Given the description of an element on the screen output the (x, y) to click on. 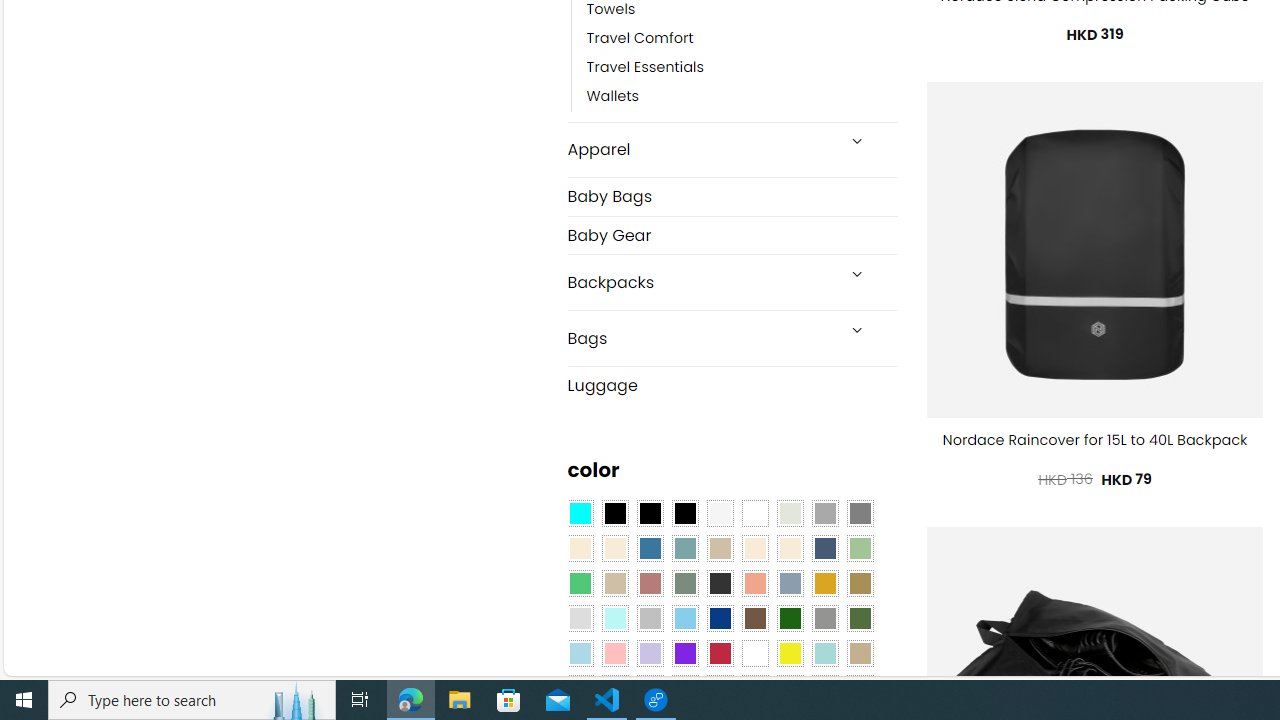
Light Taupe (614, 583)
Baby Gear (732, 234)
All Gray (859, 514)
Dark Gray (824, 514)
Red (719, 653)
Dusty Blue (789, 583)
Silver (650, 619)
Travel Essentials (742, 67)
Hale Navy (824, 548)
Cream (789, 548)
Charcoal (719, 583)
Blue (650, 548)
Black-Brown (684, 514)
Apparel (700, 150)
Brownie (719, 548)
